Given the description of an element on the screen output the (x, y) to click on. 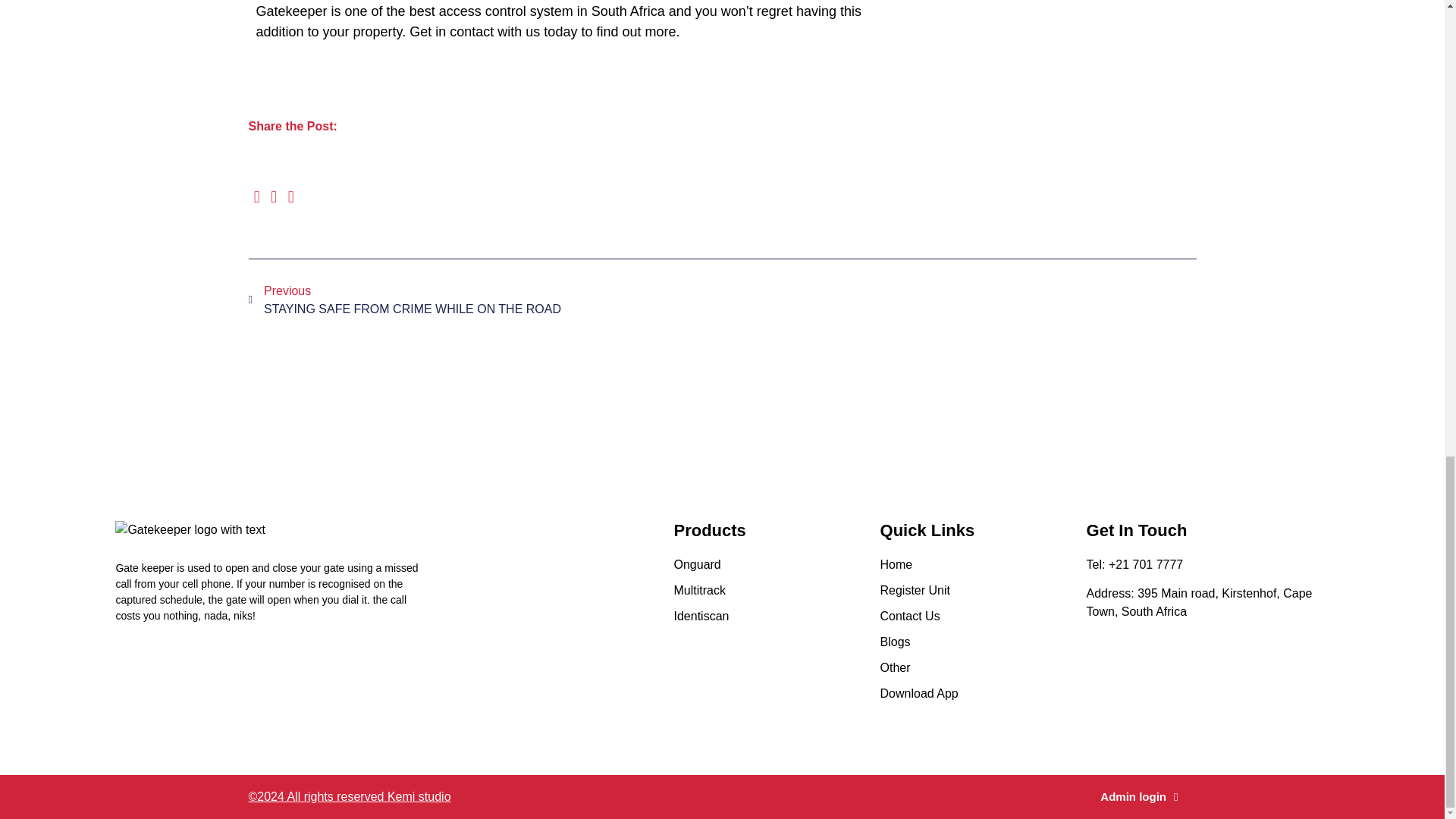
Multitrack (775, 590)
Other (983, 668)
Home (983, 565)
Contact Us (485, 299)
Blogs (983, 616)
Register Unit (983, 642)
Identiscan (983, 590)
Onguard (775, 616)
Download App (775, 565)
